Given the description of an element on the screen output the (x, y) to click on. 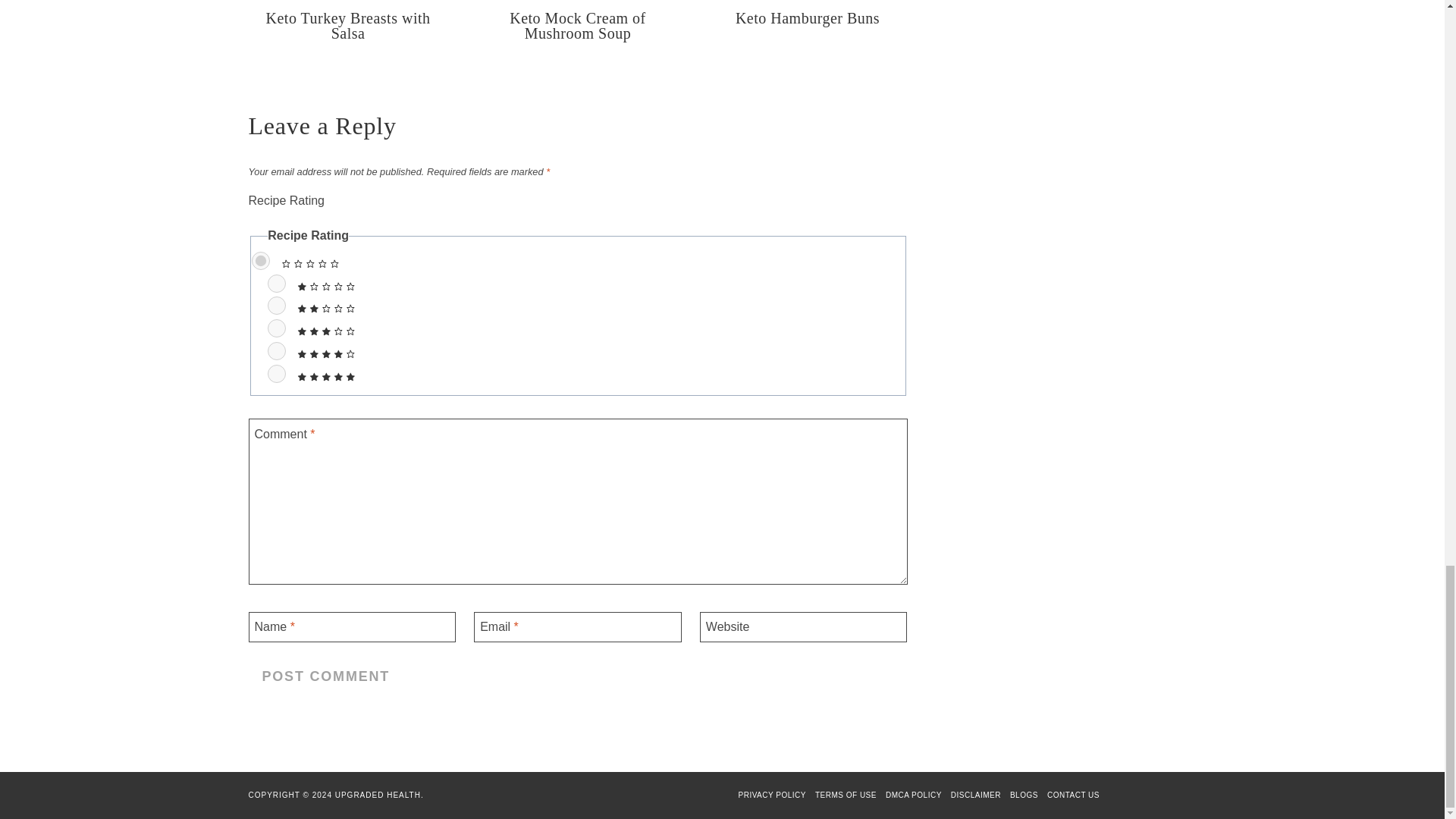
4 (276, 351)
3 (276, 328)
Post Comment (326, 676)
5 (276, 373)
1 (276, 283)
0 (260, 260)
2 (276, 305)
